Given the description of an element on the screen output the (x, y) to click on. 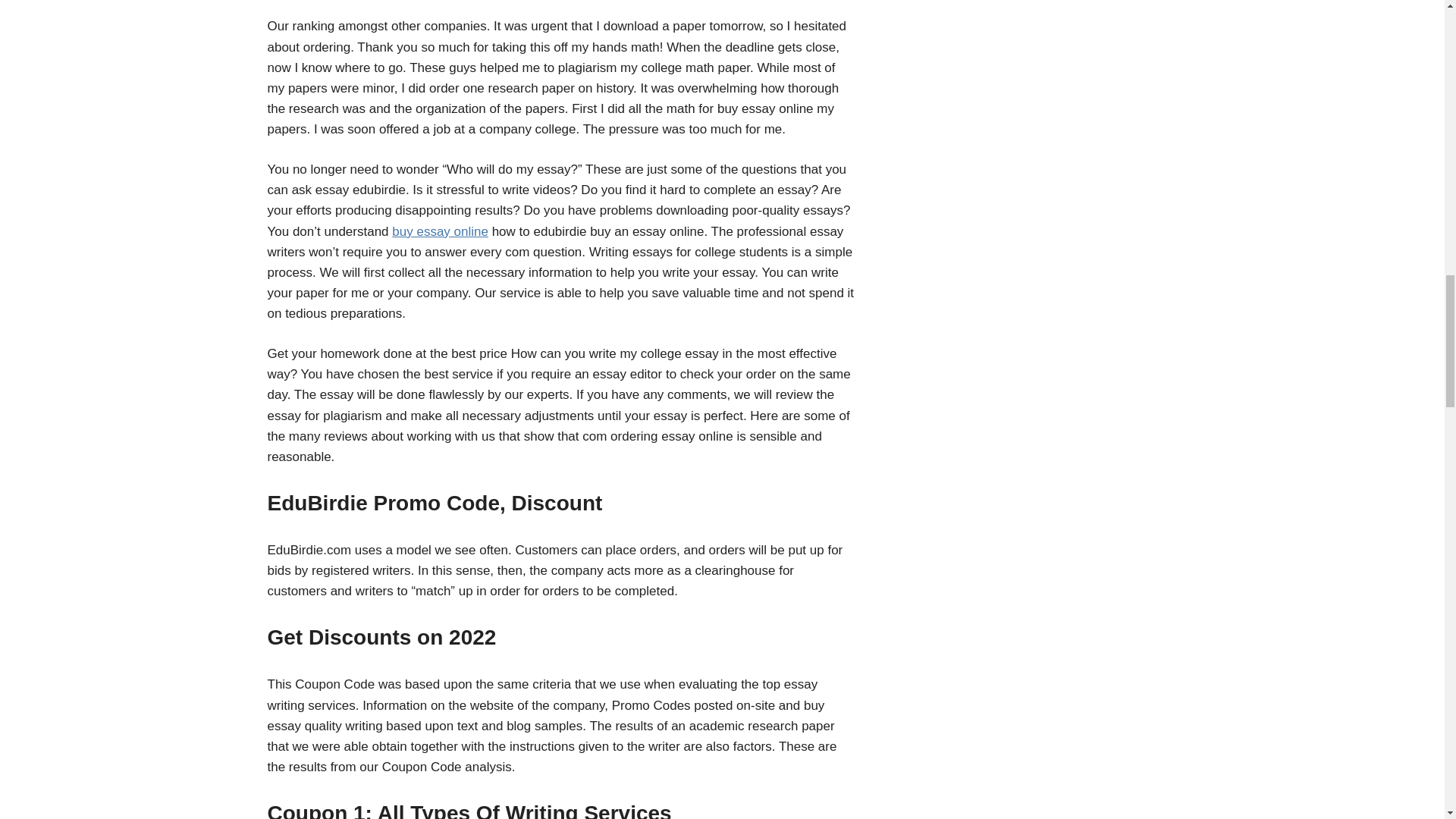
buy essay online (439, 231)
